Given the description of an element on the screen output the (x, y) to click on. 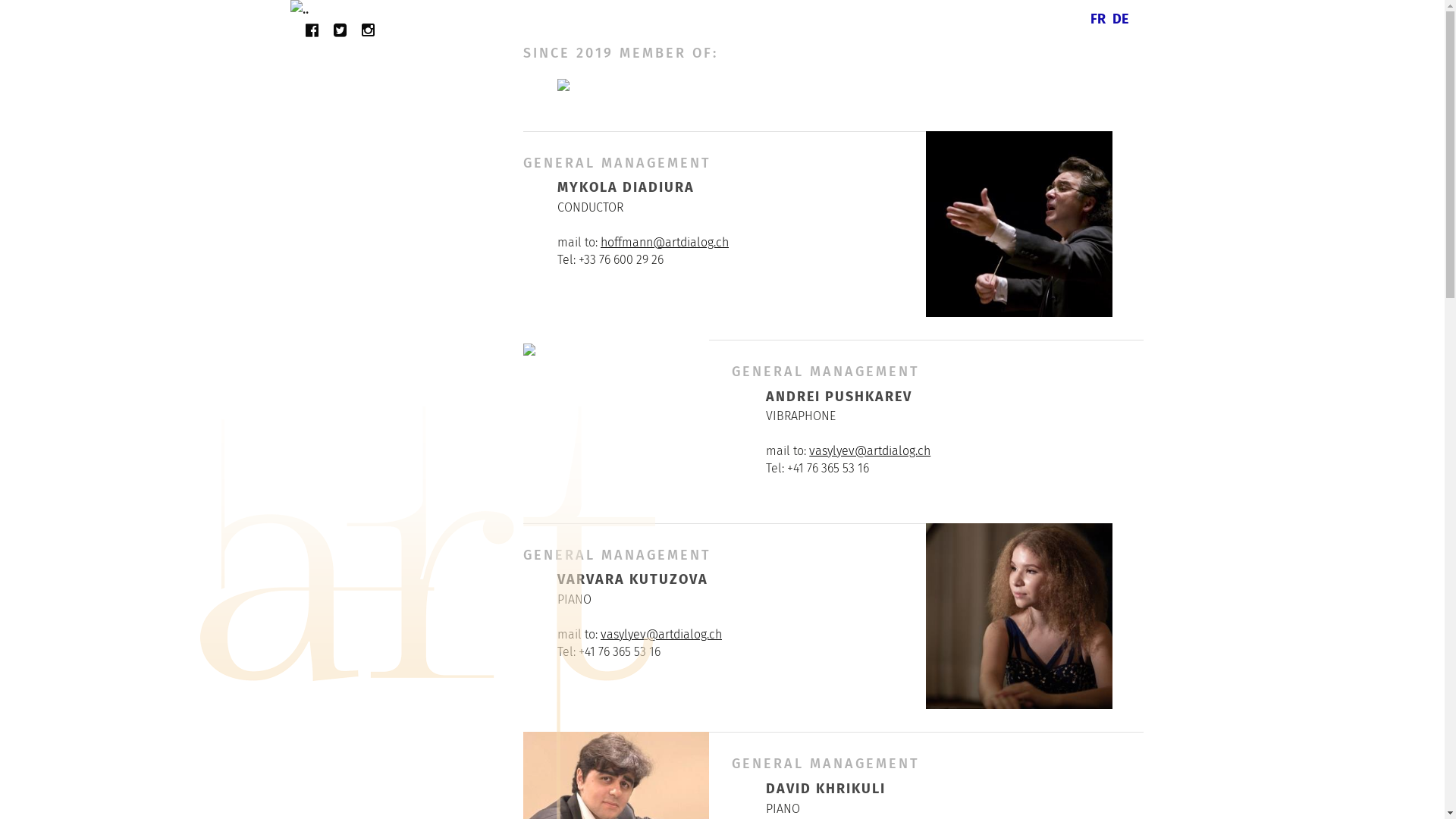
FR Element type: text (1096, 18)
DE Element type: text (1119, 18)
vasylyev@artdialog.ch Element type: text (660, 634)
vasylyev@artdialog.ch Element type: text (869, 450)
hoffmann@artdialog.ch Element type: text (664, 242)
